Given the description of an element on the screen output the (x, y) to click on. 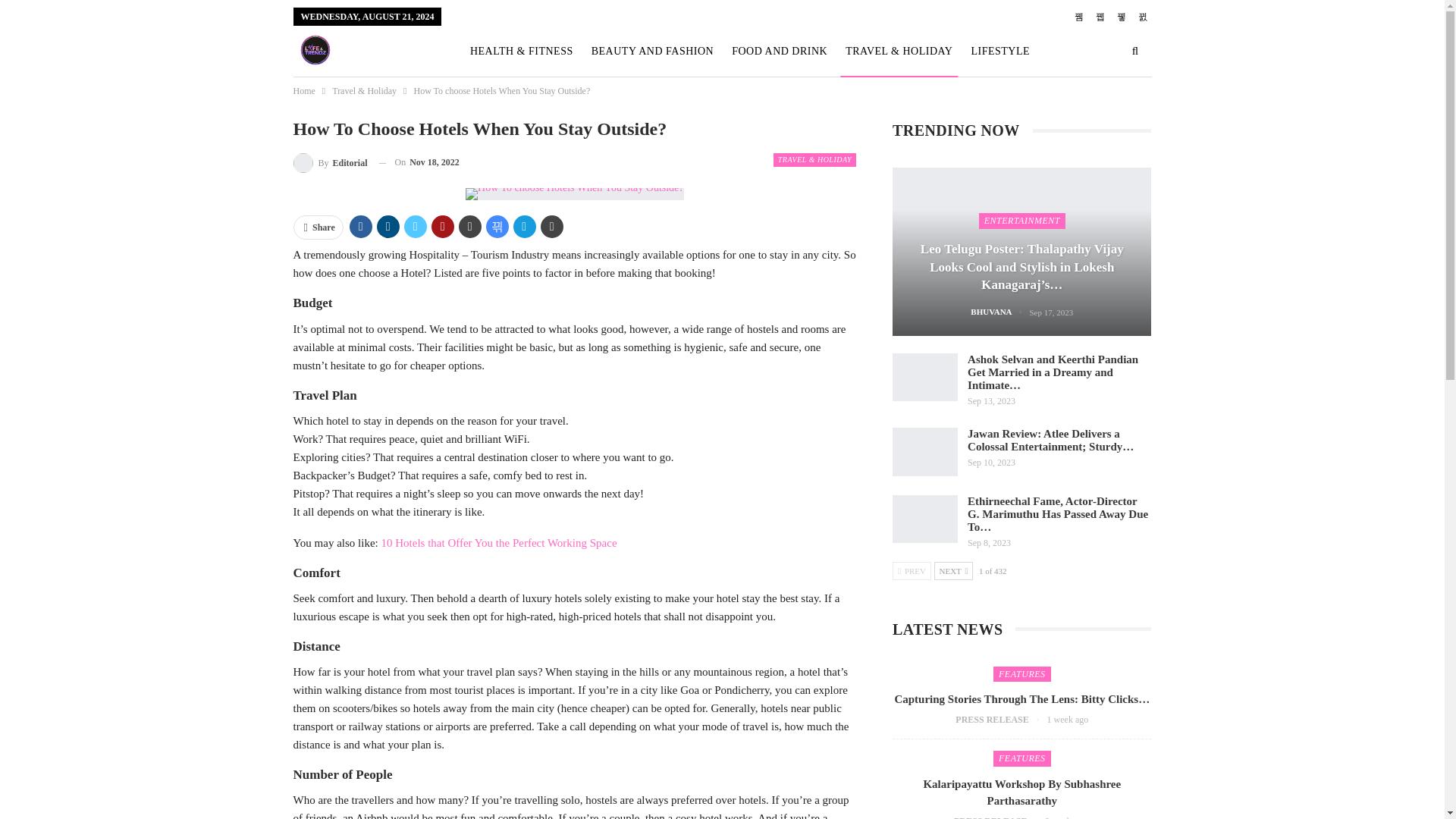
FOOD AND DRINK (779, 51)
Home (303, 90)
LIFESTYLE (1000, 51)
Browse Author Articles (1000, 312)
10 Hotels that Offer You the Perfect Working Space (497, 542)
By Editorial (329, 162)
BEAUTY AND FASHION (652, 51)
TRENDING NOW (624, 101)
ENTERTAINMENT (516, 101)
